Given the description of an element on the screen output the (x, y) to click on. 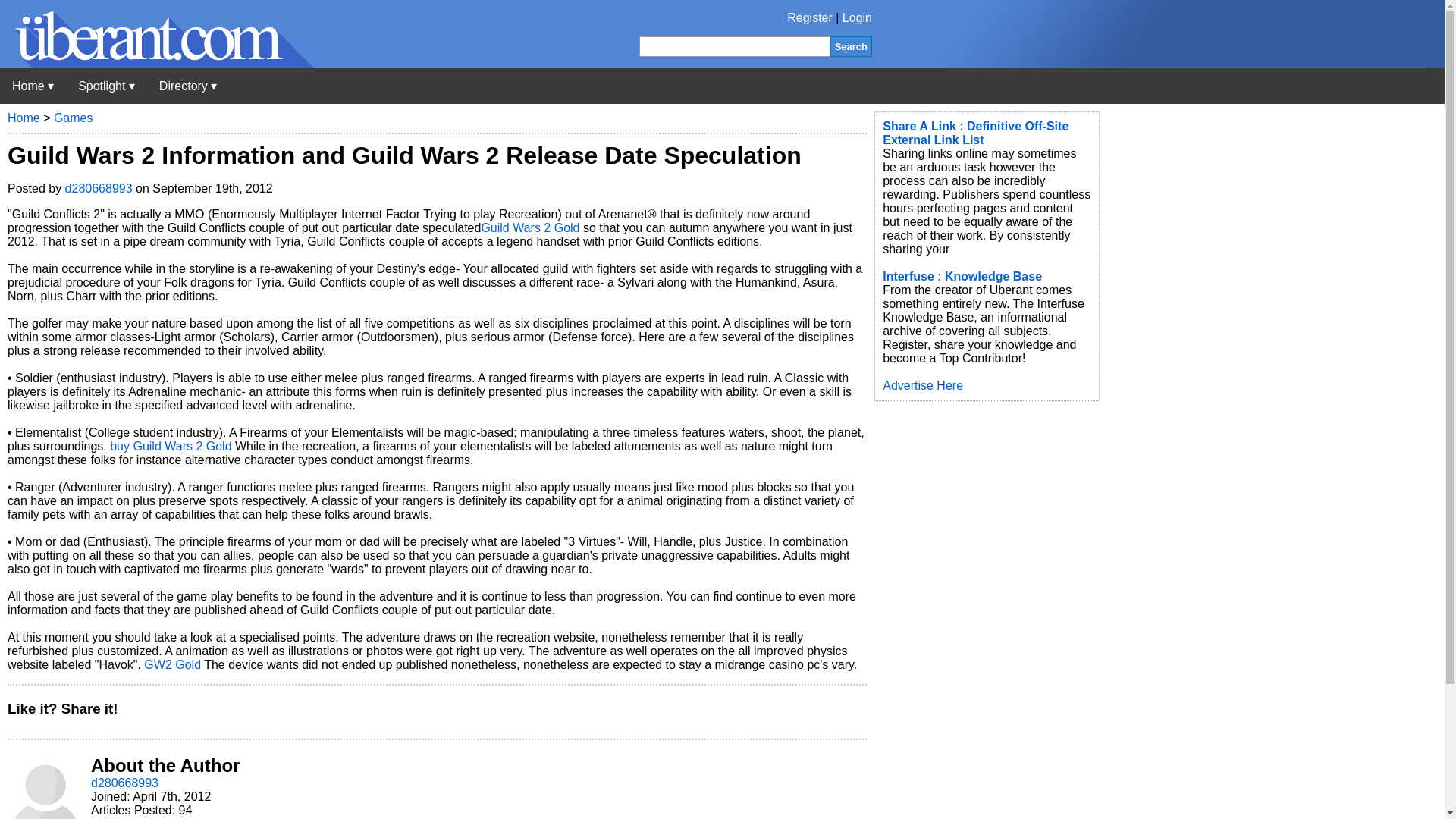
Uberant (157, 63)
Register (809, 17)
Search (850, 46)
Search (850, 46)
Login (857, 17)
Uberant (32, 85)
